Given the description of an element on the screen output the (x, y) to click on. 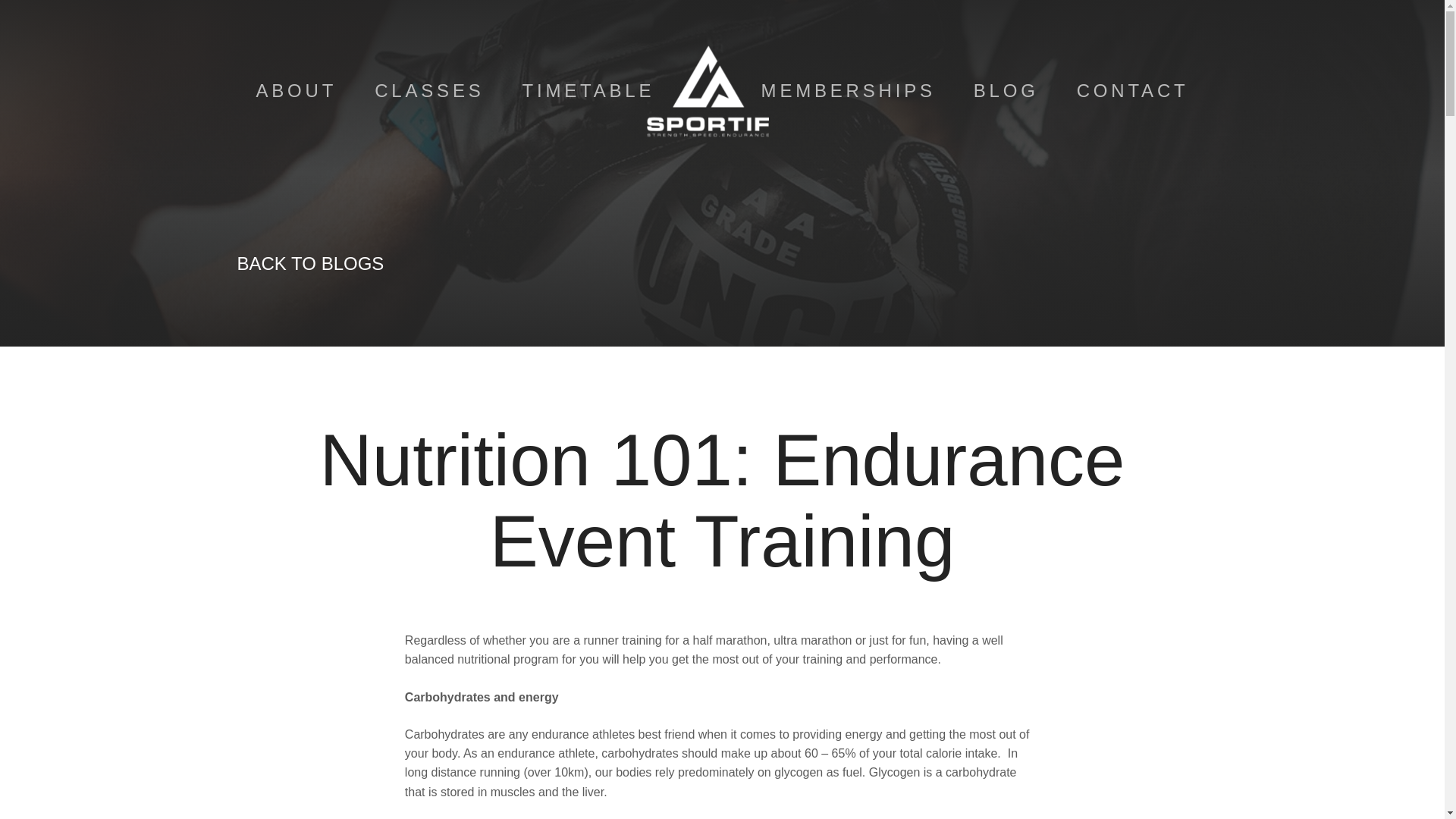
ABOUT (295, 90)
TIMETABLE (588, 90)
CLASSES (428, 90)
BACK TO BLOGS (309, 263)
CONTACT (1133, 90)
MEMBERSHIPS (848, 90)
BLOG (1006, 90)
